Given the description of an element on the screen output the (x, y) to click on. 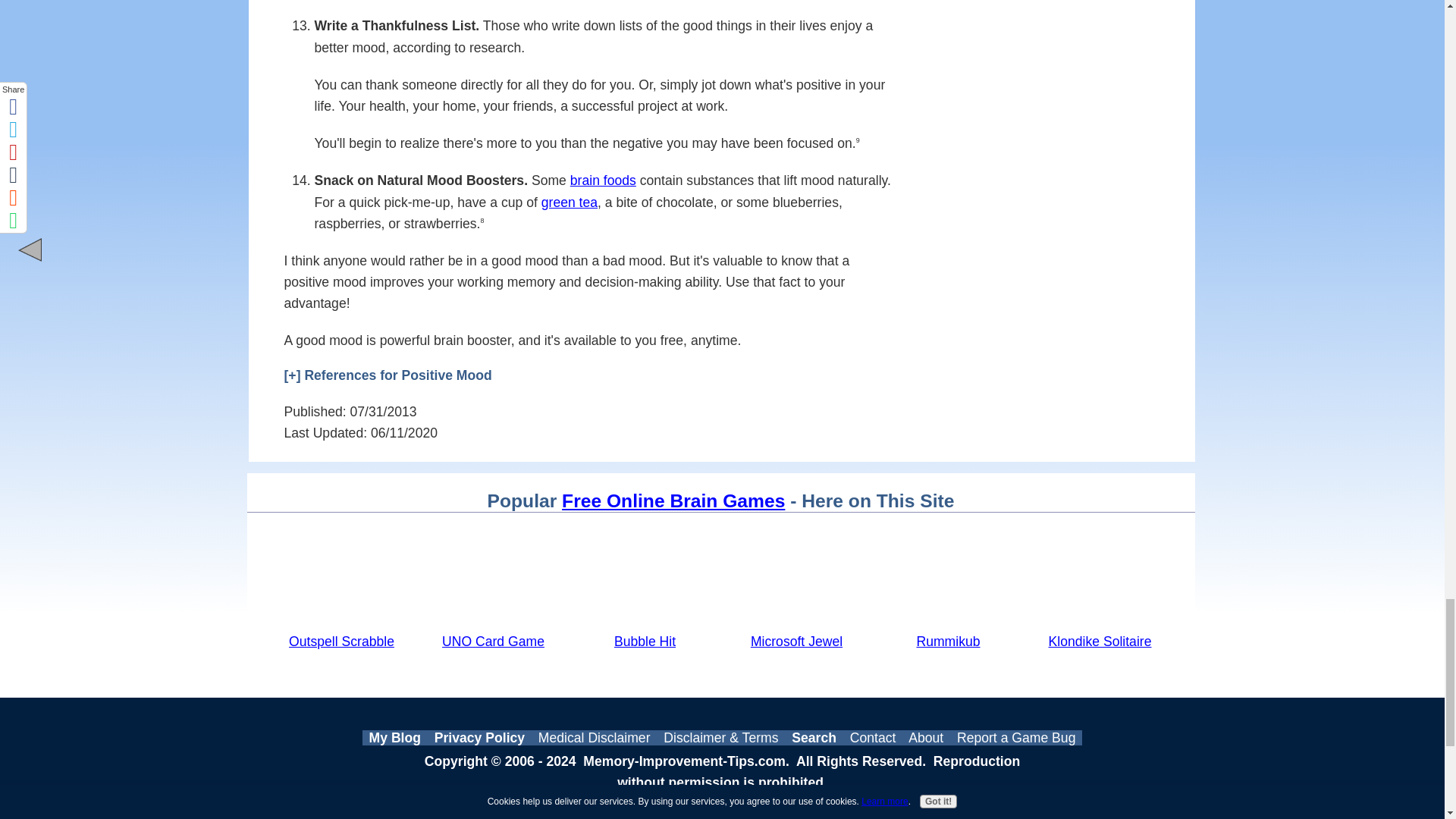
Smilie (749, 338)
